Given the description of an element on the screen output the (x, y) to click on. 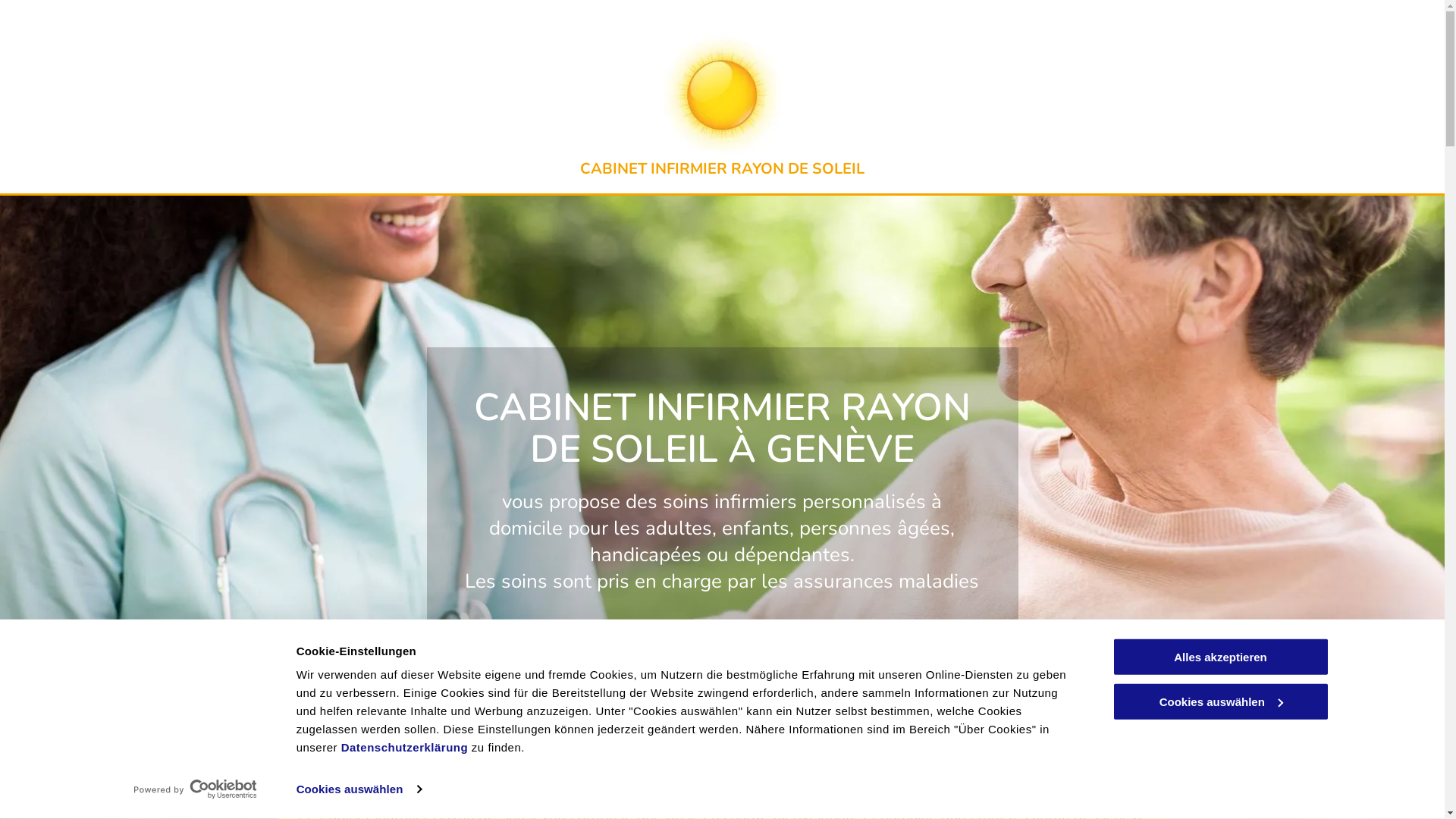
022 793 07 37 Element type: text (722, 647)
Alles akzeptieren Element type: text (1219, 656)
